Given the description of an element on the screen output the (x, y) to click on. 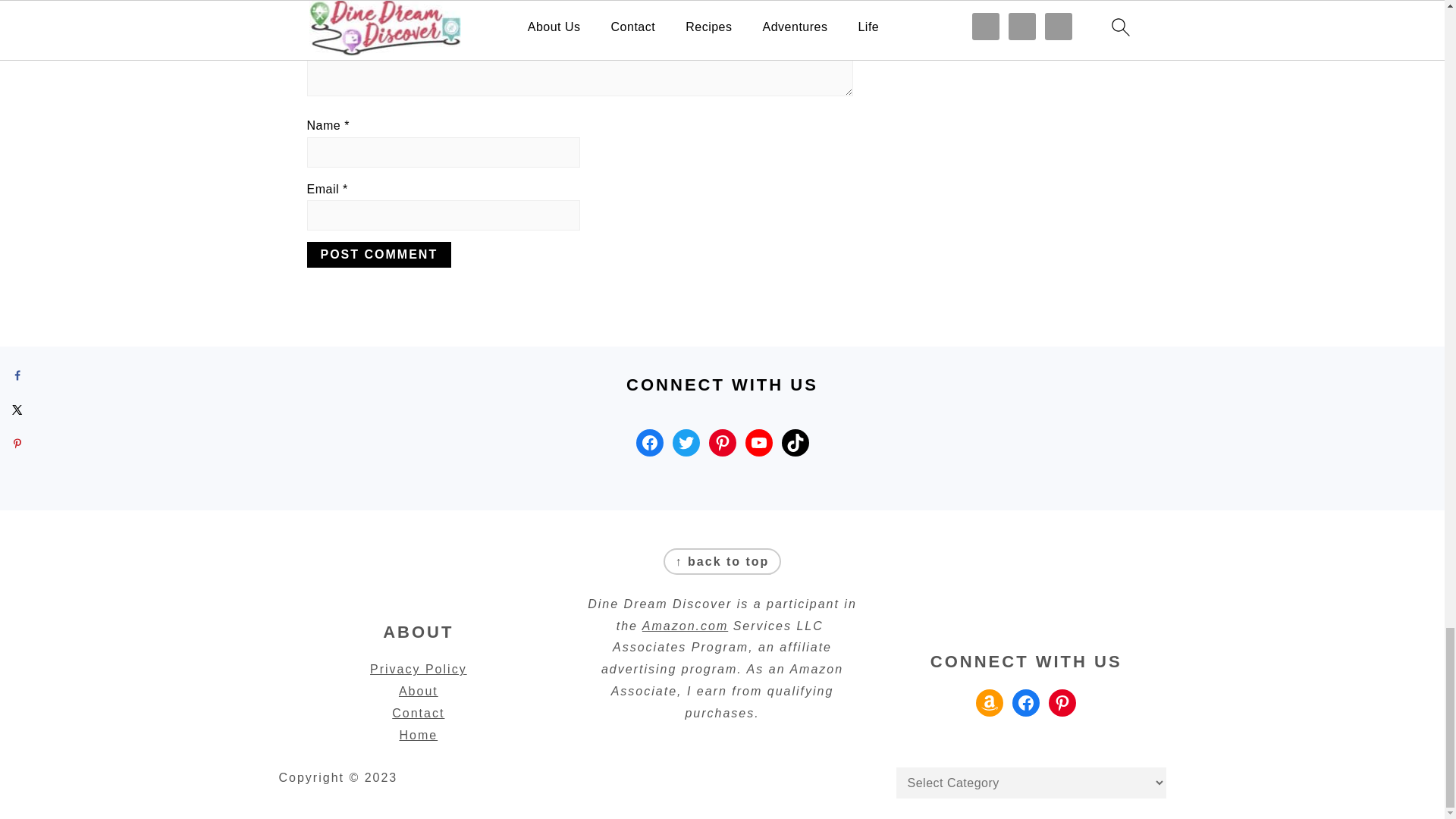
Post Comment (378, 254)
